Given the description of an element on the screen output the (x, y) to click on. 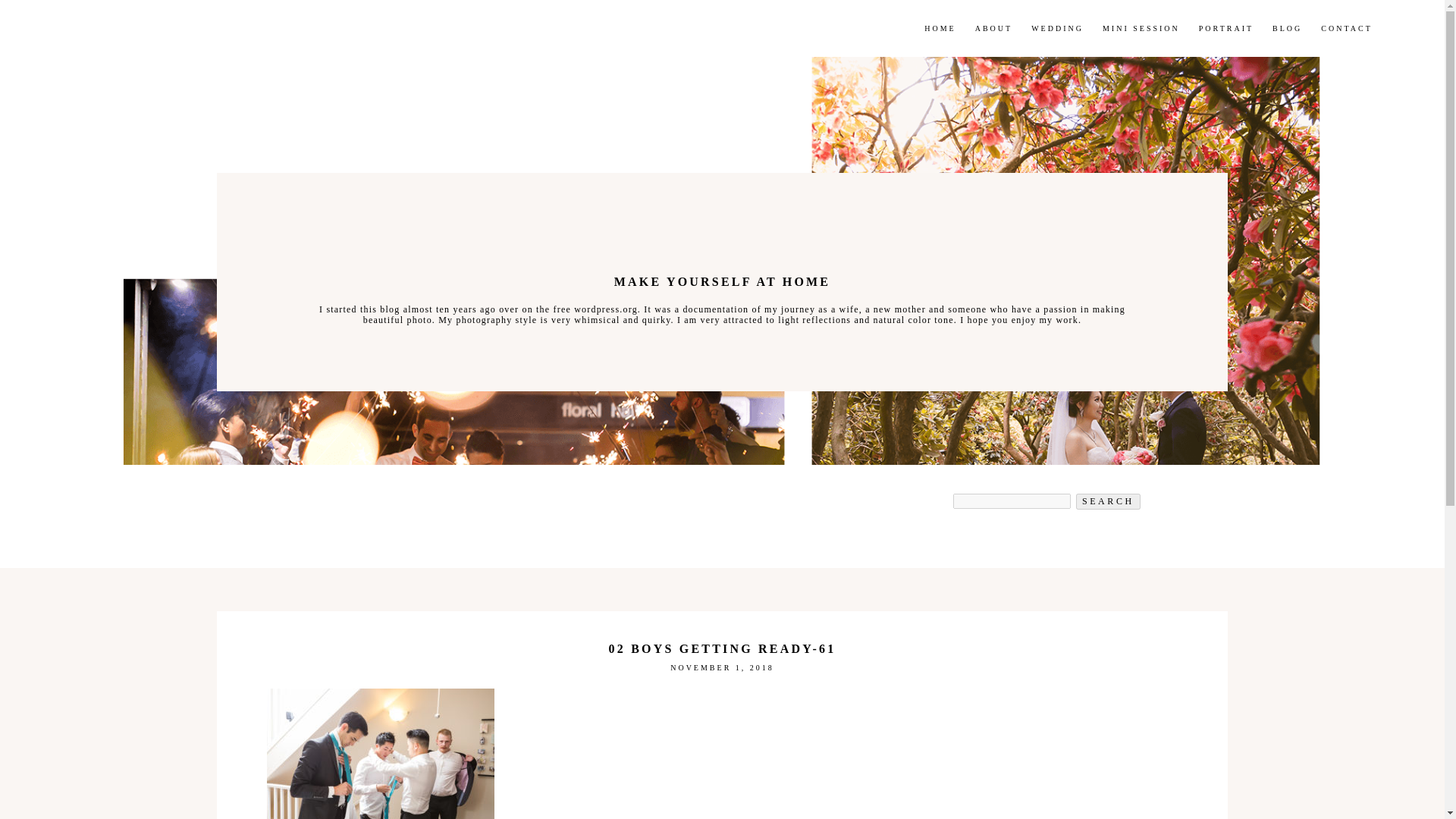
HOME (194, 28)
CONTACT (939, 28)
Search (1345, 28)
ABOUT (1107, 501)
Search (993, 28)
PORTRAIT (1107, 501)
MINI SESSION (1225, 28)
BLOG (1140, 28)
WEDDING (1286, 28)
